Given the description of an element on the screen output the (x, y) to click on. 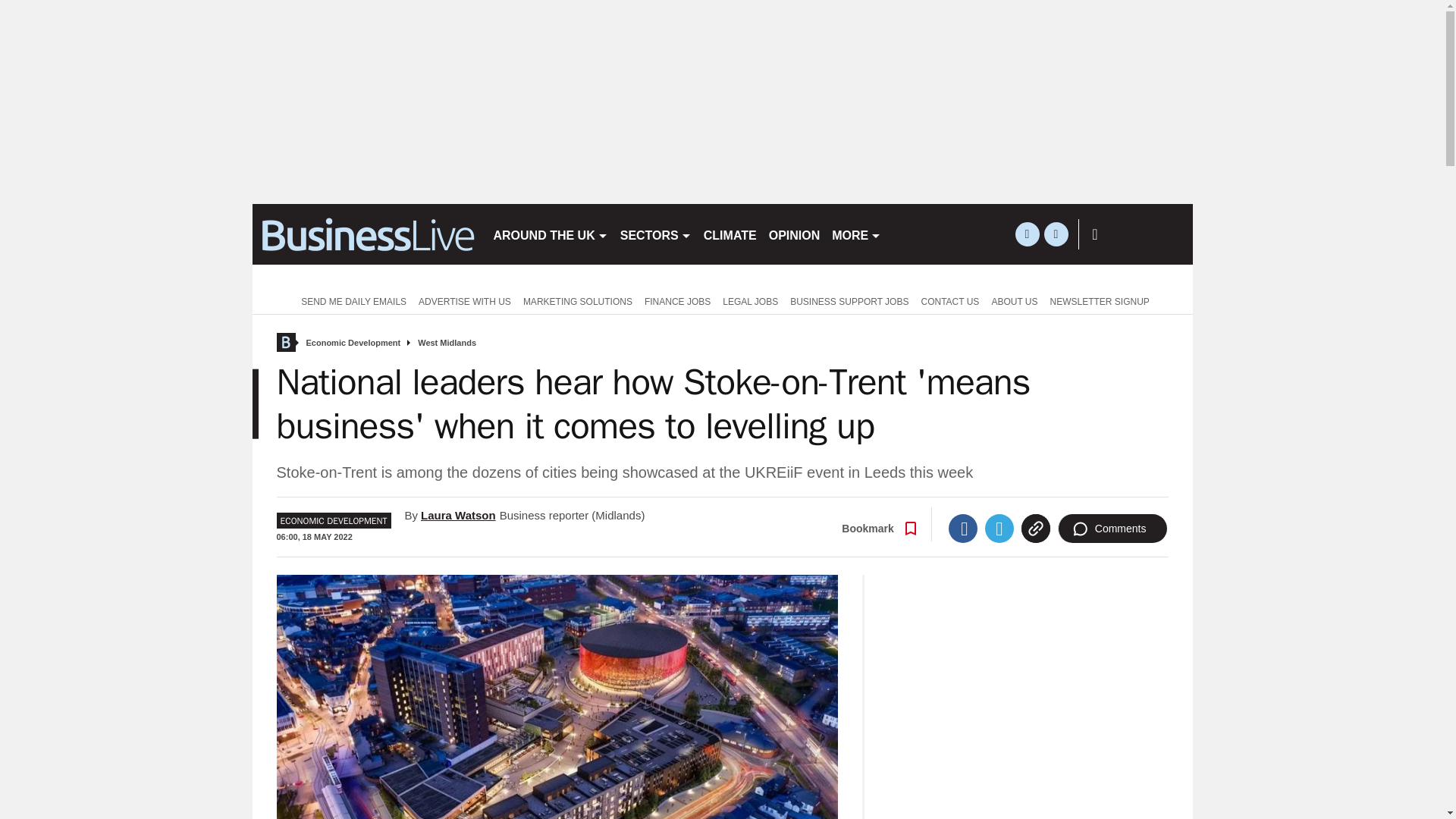
linkedin (1055, 233)
Comments (1112, 528)
SECTORS (655, 233)
LEGAL JOBS (750, 300)
MORE (855, 233)
birminghampost (365, 233)
FINANCE JOBS (677, 300)
SEND ME DAILY EMAILS (350, 300)
Twitter (999, 528)
Facebook (962, 528)
ADVERTISE WITH US (464, 300)
AROUND THE UK (549, 233)
MARKETING SOLUTIONS (577, 300)
twitter (1026, 233)
CLIMATE (729, 233)
